Given the description of an element on the screen output the (x, y) to click on. 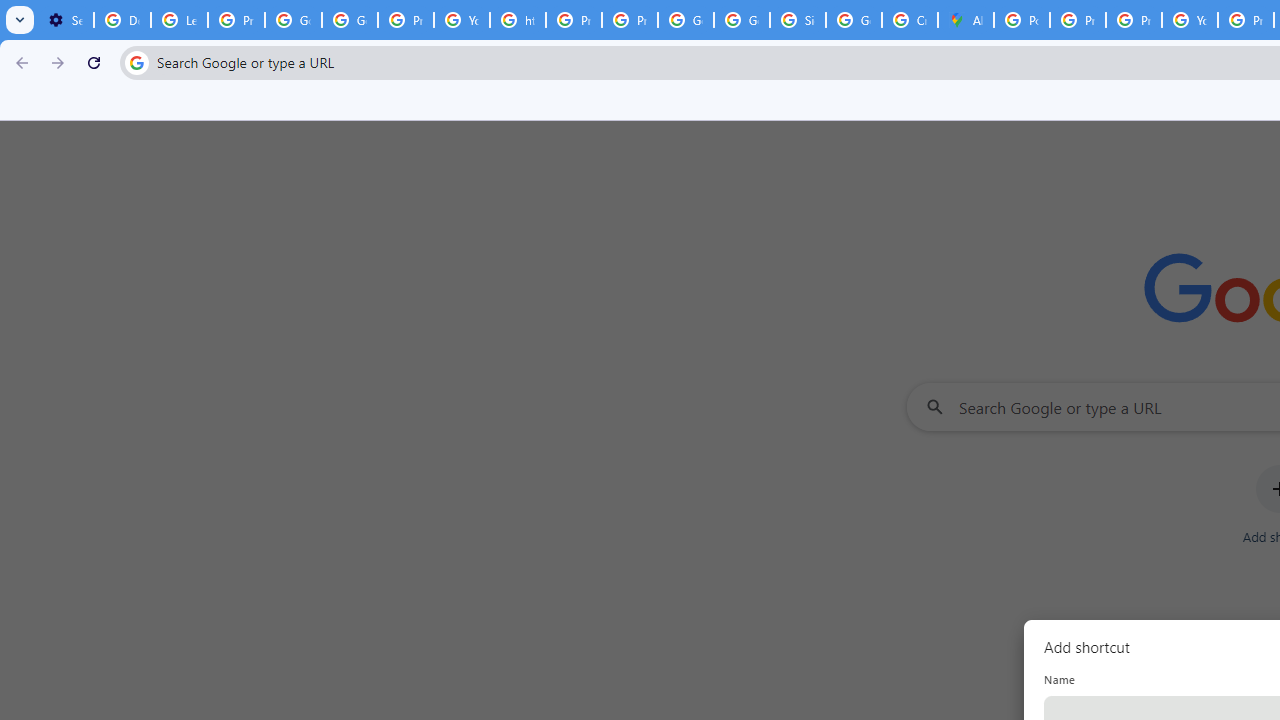
Policy Accountability and Transparency - Transparency Center (1021, 20)
Google Account Help (293, 20)
YouTube (1190, 20)
Privacy Help Center - Policies Help (1077, 20)
Privacy Help Center - Policies Help (1133, 20)
Delete photos & videos - Computer - Google Photos Help (122, 20)
